Given the description of an element on the screen output the (x, y) to click on. 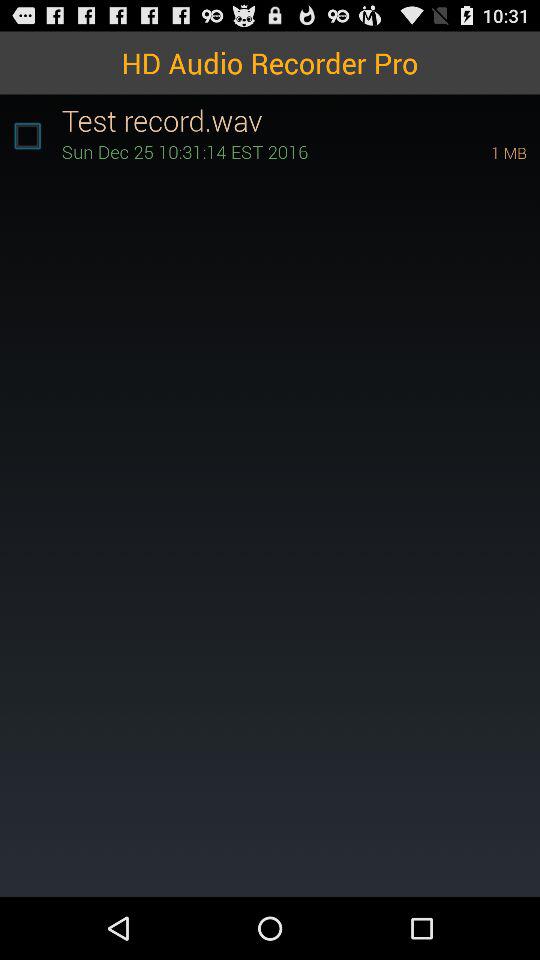
scroll until 1 mb app (481, 152)
